Given the description of an element on the screen output the (x, y) to click on. 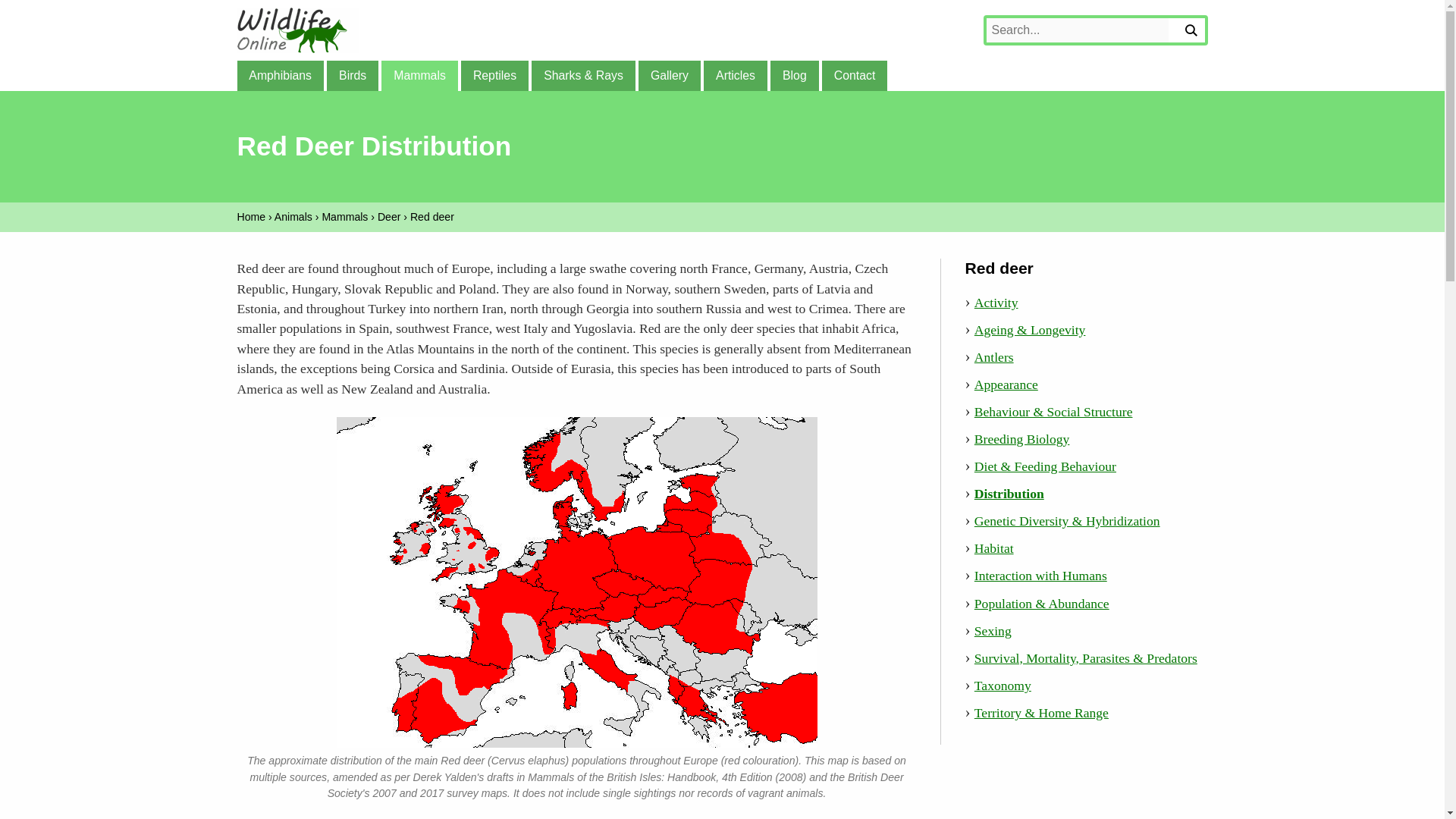
Interaction with Humans (1040, 575)
Mammals (419, 75)
Contact (854, 75)
Antlers (993, 356)
Breeding Biology (1022, 438)
Deer (389, 216)
Distribution (1008, 493)
Articles (735, 75)
Activity (995, 302)
Blog (794, 75)
